Given the description of an element on the screen output the (x, y) to click on. 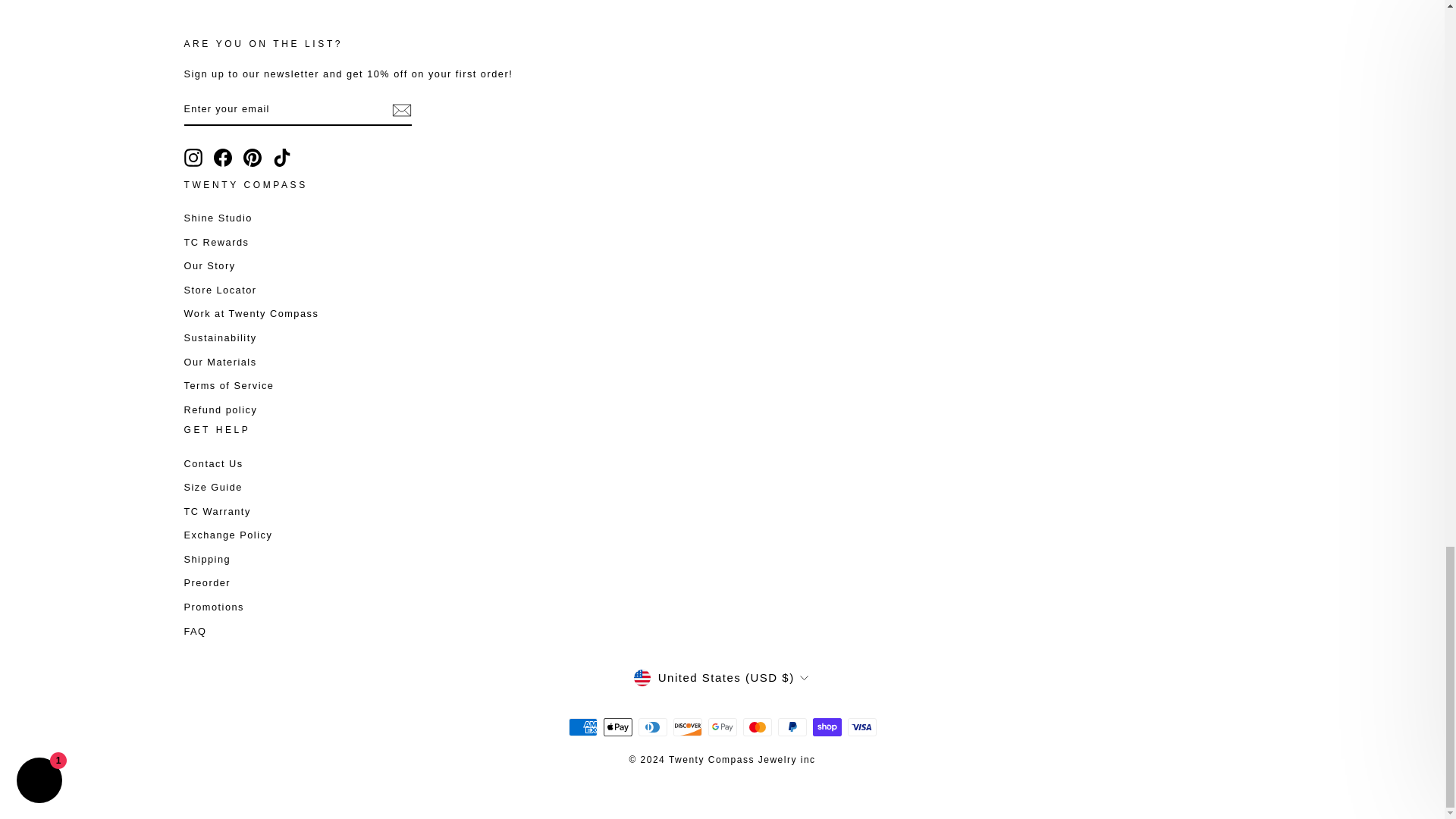
Twenty Compass on Facebook (222, 157)
Twenty Compass on Instagram (192, 157)
Twenty Compass on Pinterest (251, 157)
American Express (582, 727)
Twenty Compass on TikTok (282, 157)
